Given the description of an element on the screen output the (x, y) to click on. 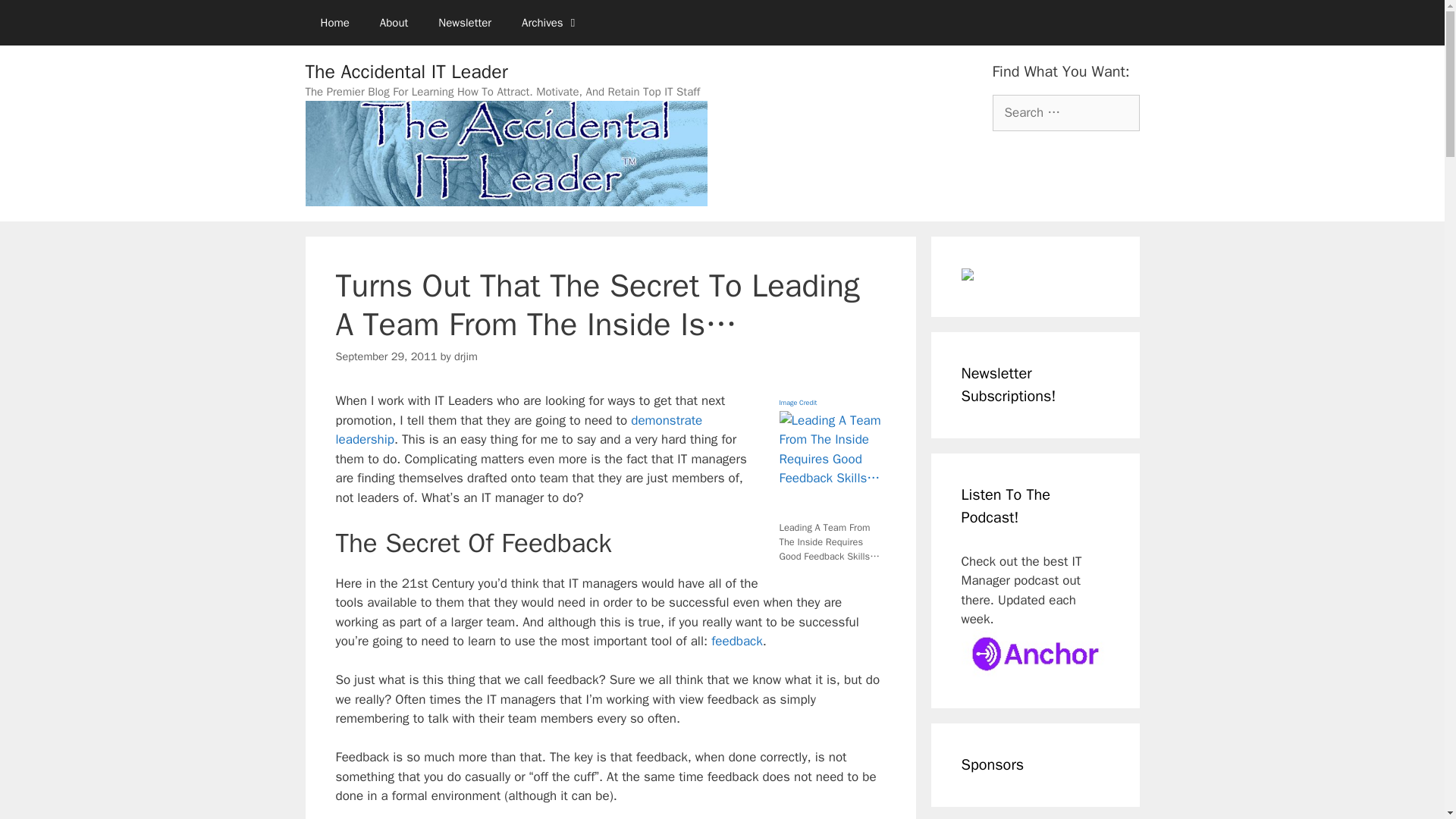
Home (334, 22)
demonstrate leadership (517, 429)
The Accidental IT Leader (405, 71)
Search (35, 18)
Newsletter (464, 22)
feedback (736, 641)
Archives (550, 22)
drjim (465, 356)
Image Credit (797, 400)
5 Characteristics That All IT Leaders Have (517, 429)
Search for: (1064, 113)
About (394, 22)
View all posts by drjim (465, 356)
What is feedback? (736, 641)
